Given the description of an element on the screen output the (x, y) to click on. 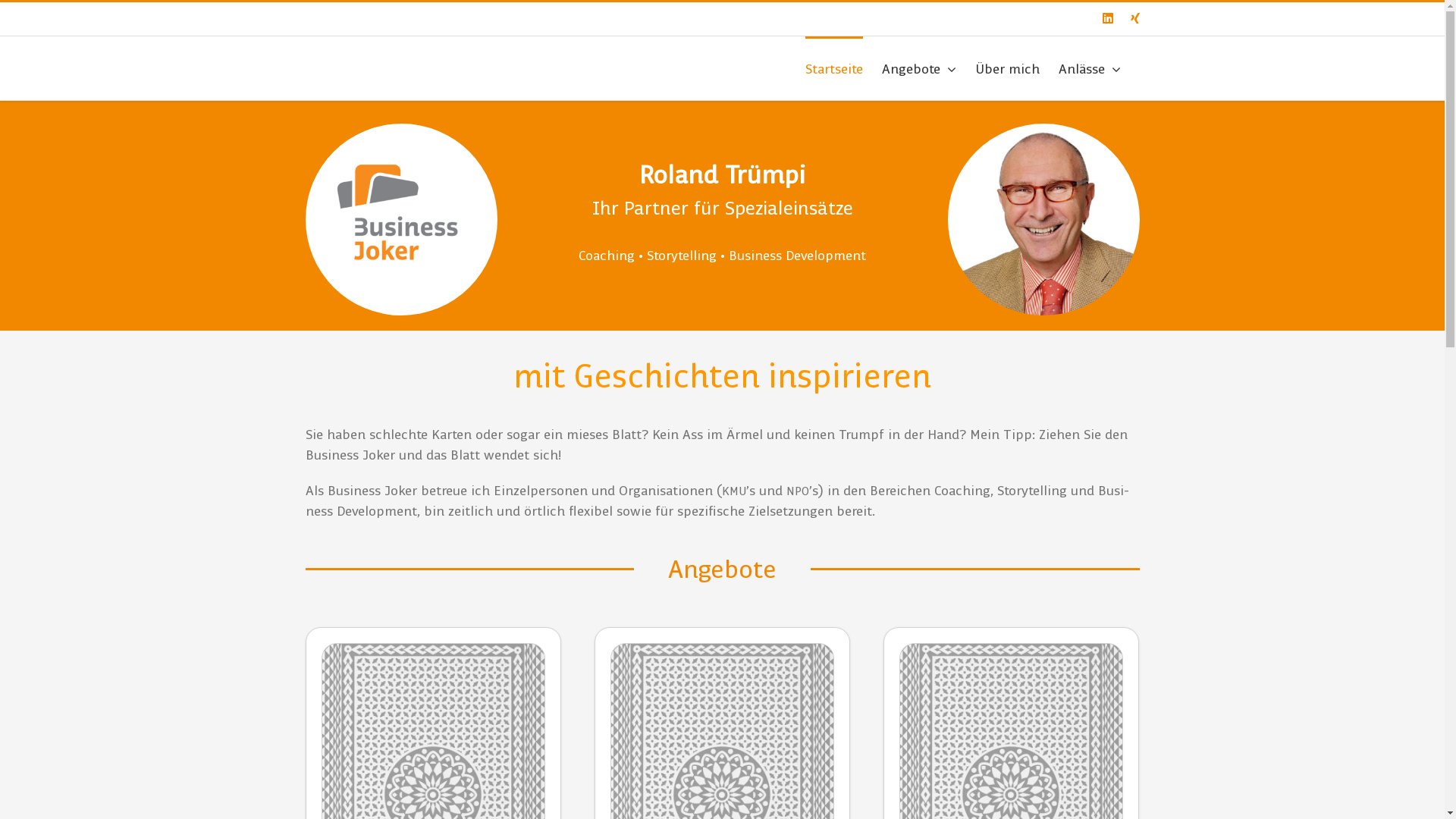
Business Joker Element type: hover (400, 219)
Startseite Element type: text (833, 68)
Angebote Element type: text (918, 68)
